Given the description of an element on the screen output the (x, y) to click on. 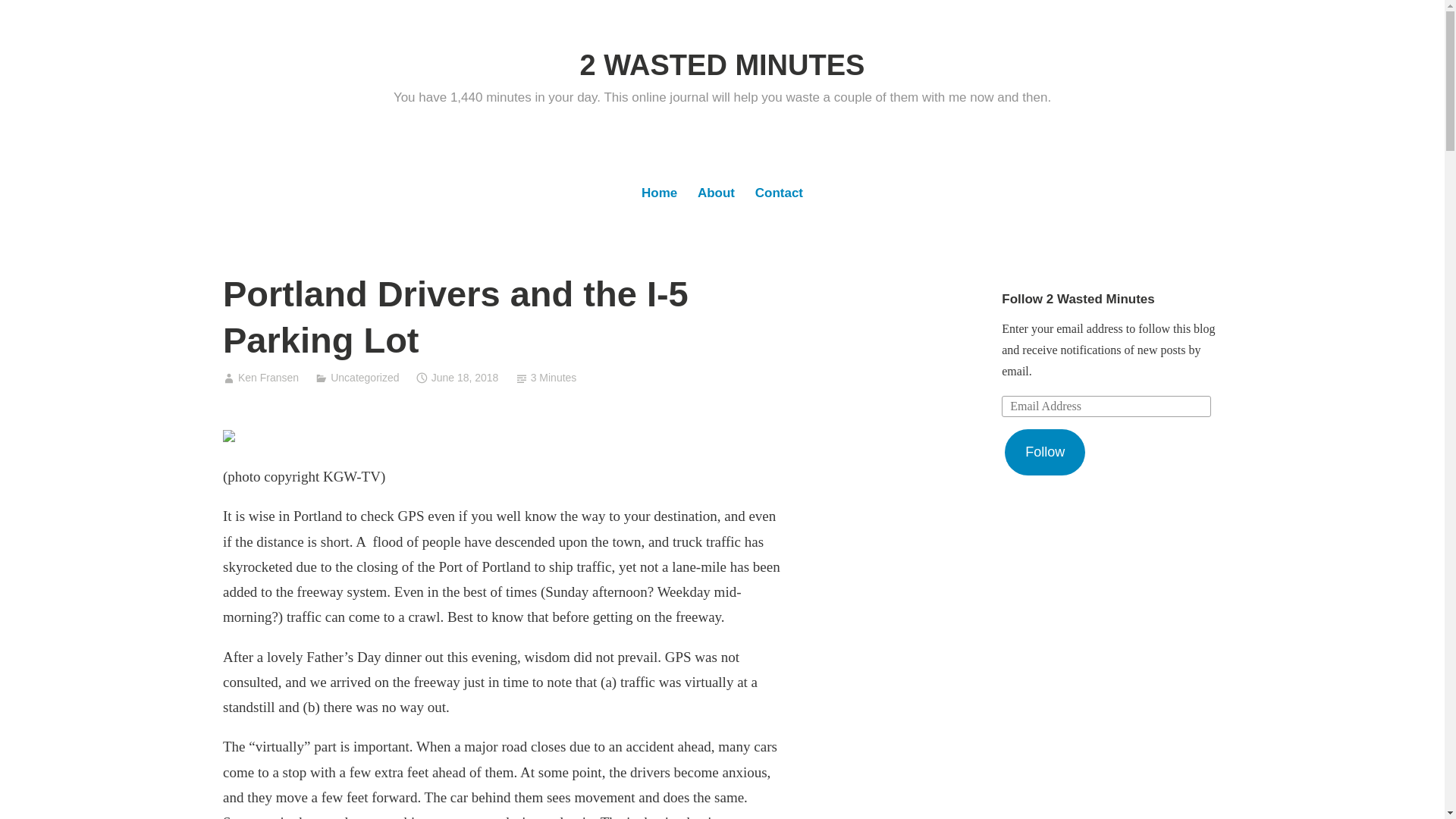
Search Element type: text (30, 16)
2 WASTED MINUTES Element type: text (722, 65)
Follow Element type: text (1044, 452)
Home Element type: text (658, 193)
Contact Element type: text (778, 193)
Uncategorized Element type: text (364, 377)
Ken Fransen Element type: text (268, 377)
About Element type: text (715, 193)
